Given the description of an element on the screen output the (x, y) to click on. 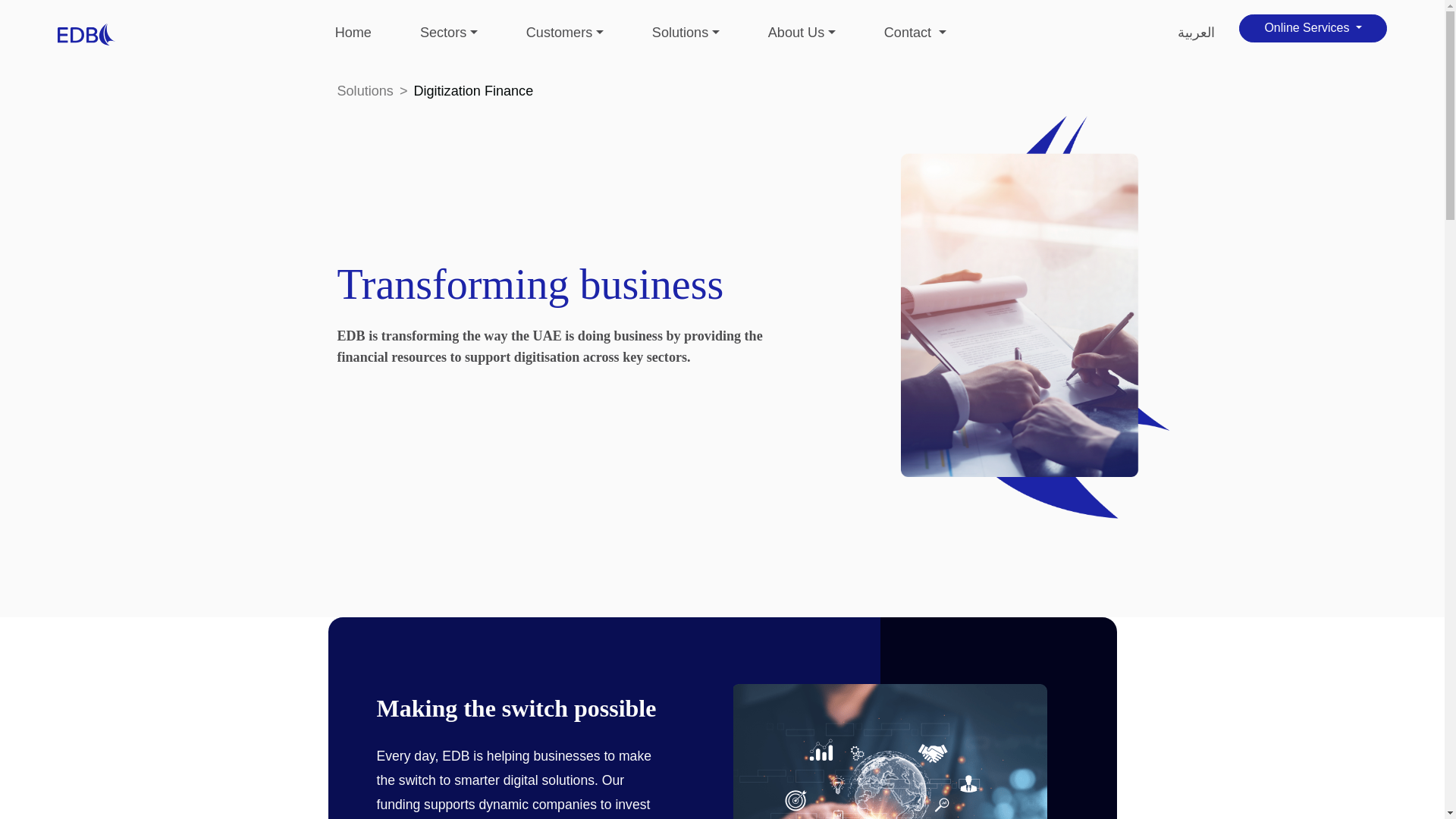
Home (353, 32)
Solutions (685, 32)
Sectors (449, 32)
About Us (802, 32)
Customers (564, 32)
